Given the description of an element on the screen output the (x, y) to click on. 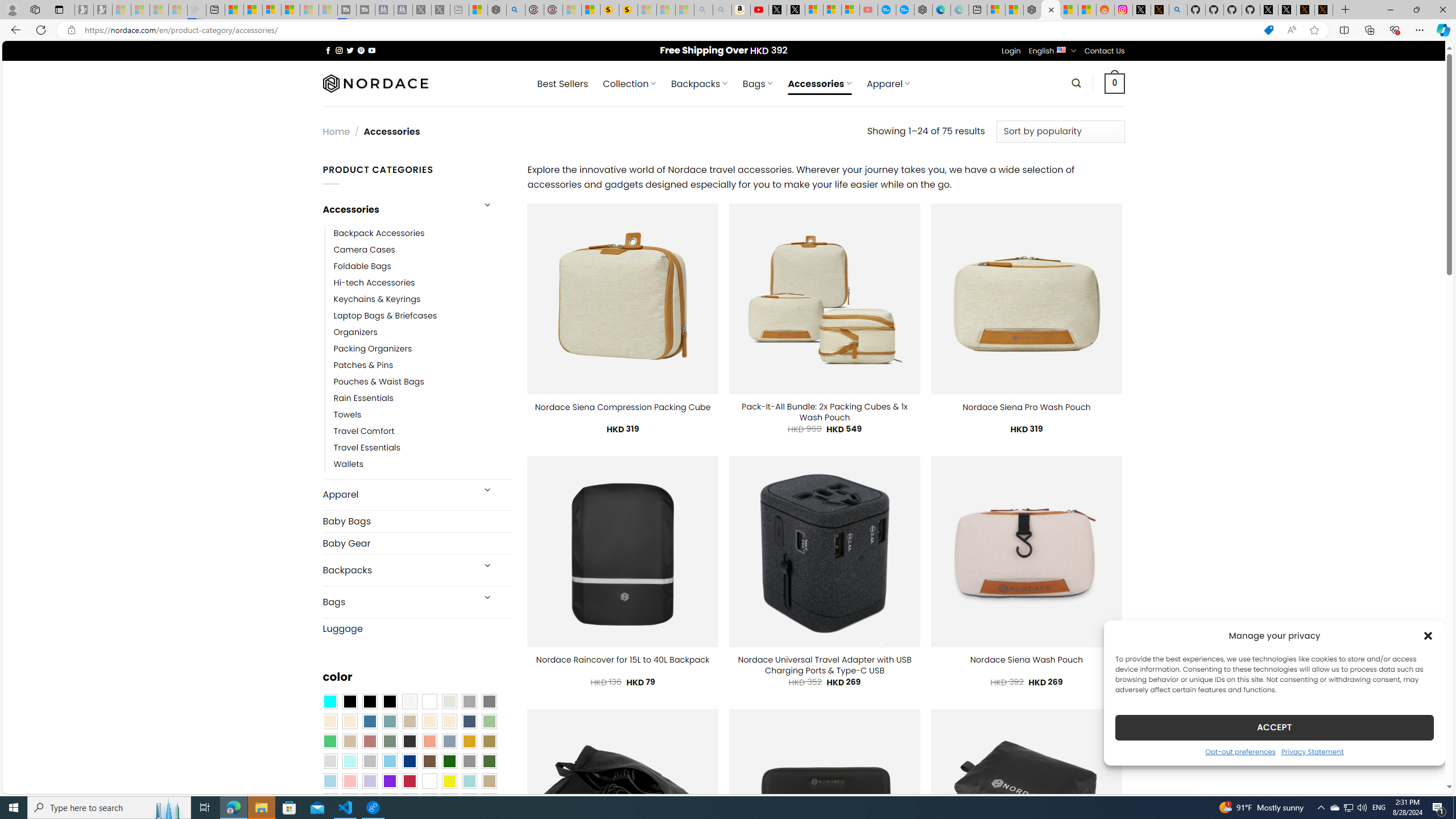
All Black (349, 701)
Gray (468, 761)
Organizers (355, 332)
Organizers (422, 332)
Keychains & Keyrings (422, 298)
Luggage (416, 627)
Class: cmplz-close (1428, 635)
Travel Essentials (422, 448)
Login (1010, 50)
Packing Organizers (372, 348)
Packing Organizers (422, 348)
Dark Gray (468, 701)
